Given the description of an element on the screen output the (x, y) to click on. 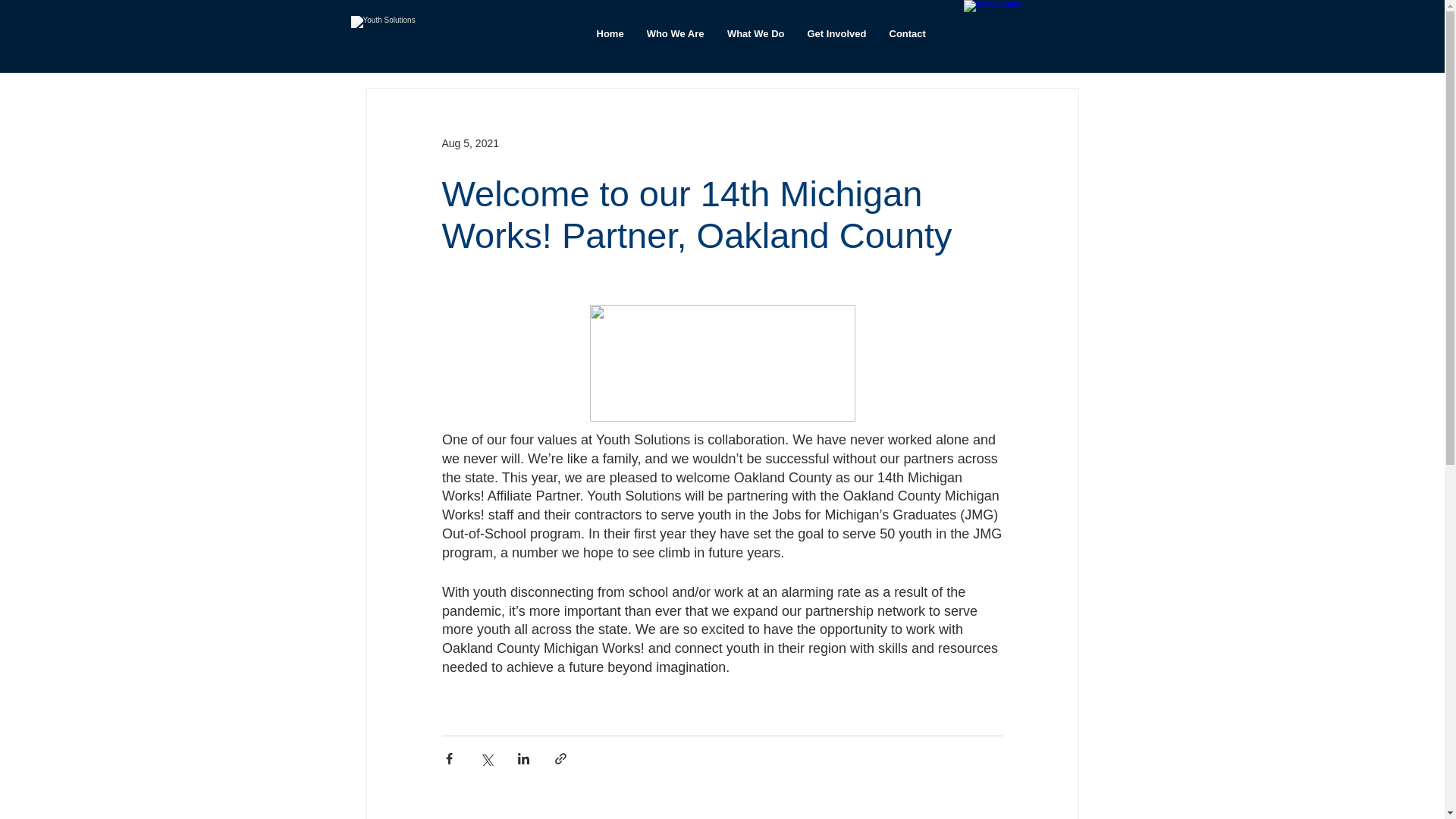
Home (609, 33)
Get Involved (836, 33)
Contact (907, 33)
Who We Are (675, 33)
What We Do (756, 33)
Aug 5, 2021 (470, 142)
